Given the description of an element on the screen output the (x, y) to click on. 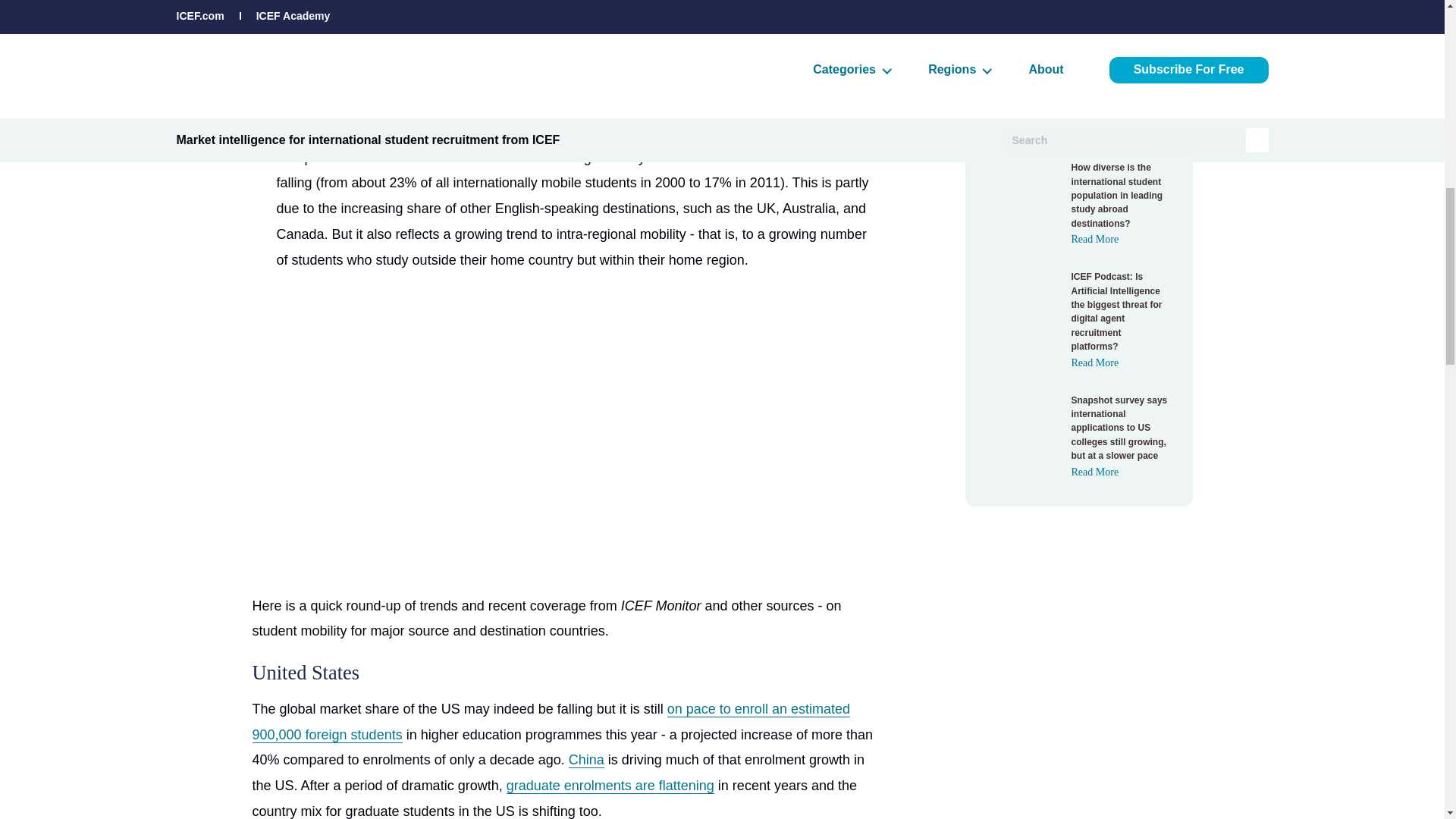
icefmonitor.com-a-closer-look-at-us-enrolment-growth (586, 760)
